Given the description of an element on the screen output the (x, y) to click on. 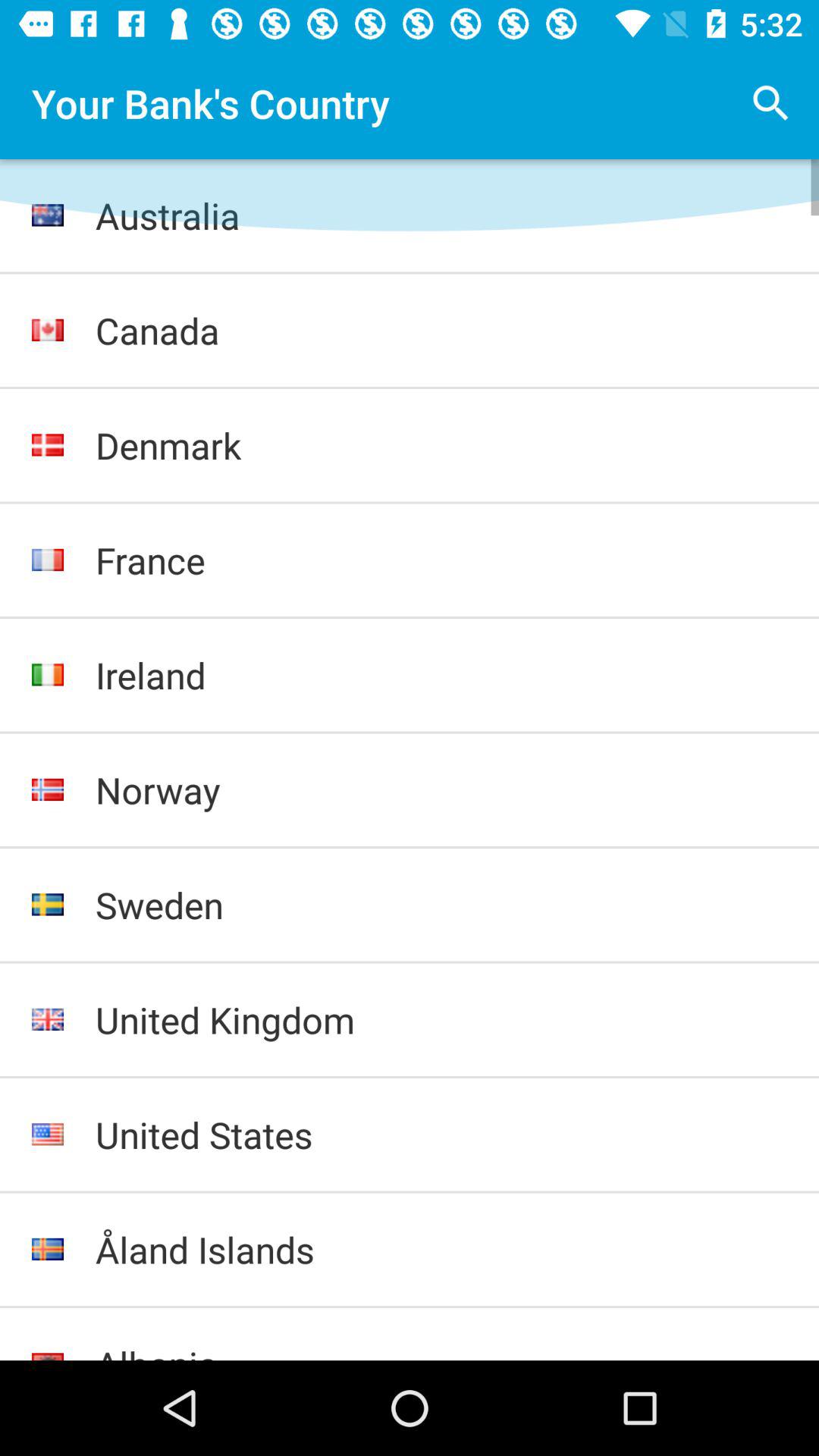
turn on united states (441, 1134)
